Given the description of an element on the screen output the (x, y) to click on. 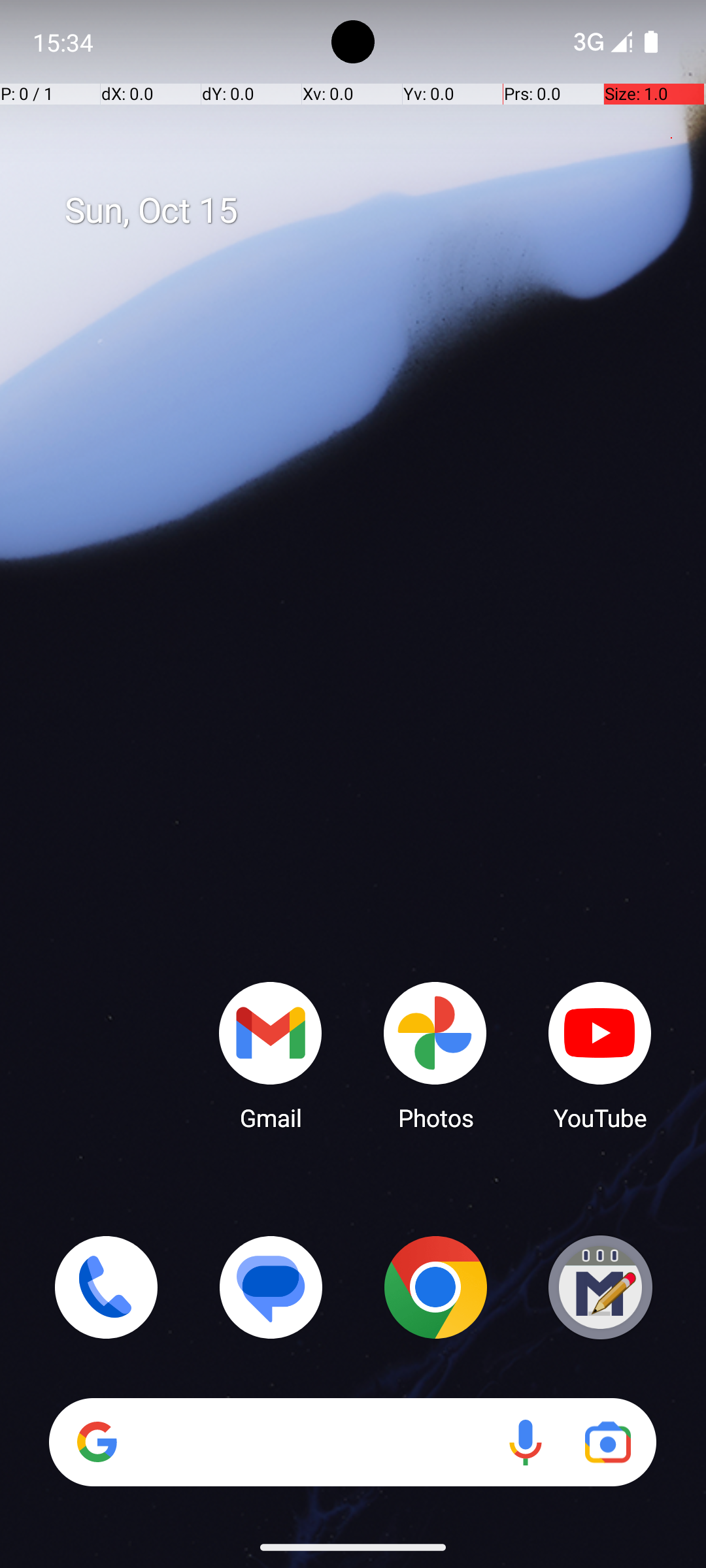
Markor Element type: android.widget.TextView (599, 1287)
Sun, Oct 15 Element type: android.widget.TextView (366, 210)
